Given the description of an element on the screen output the (x, y) to click on. 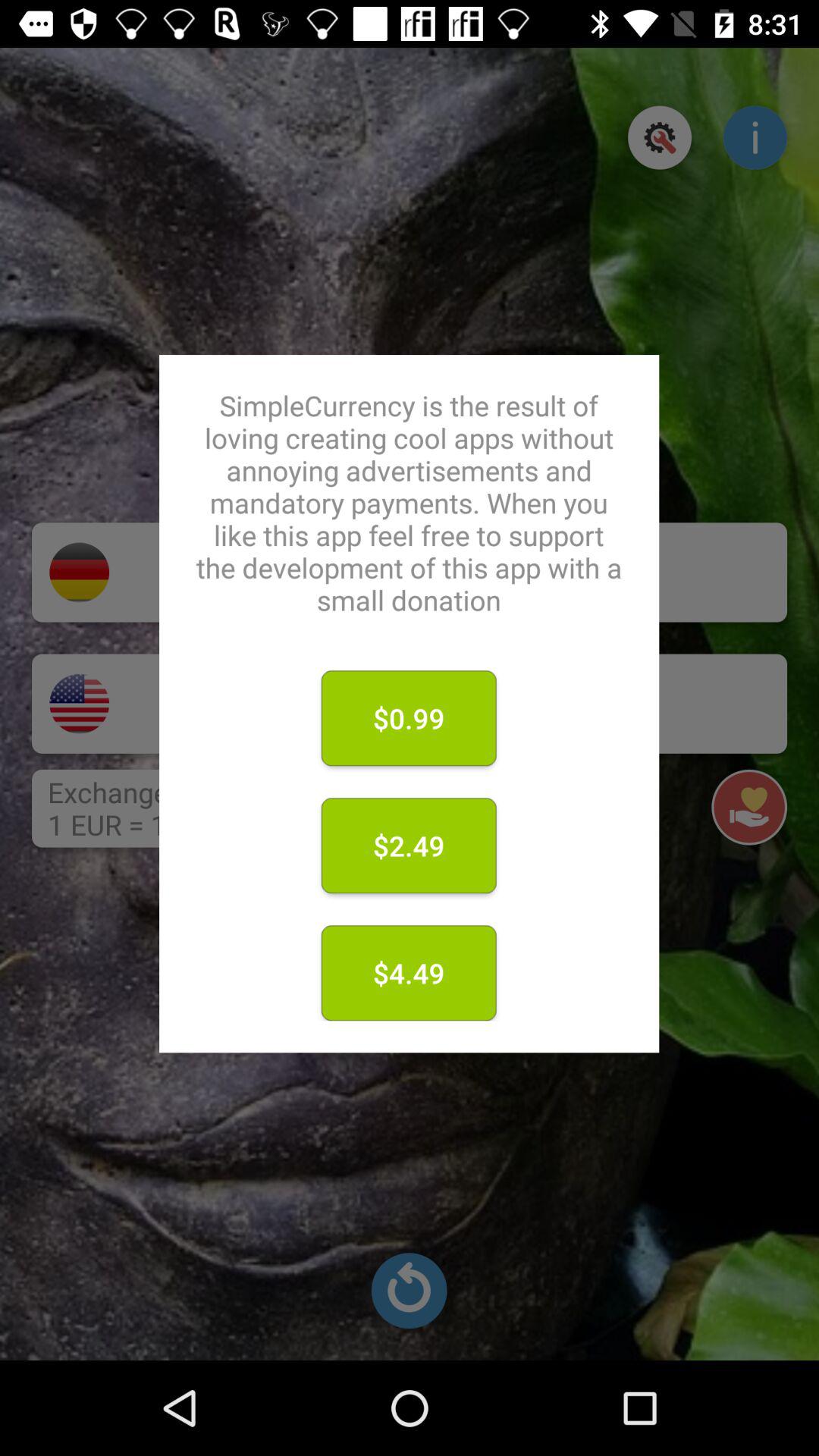
go back (409, 1290)
